Given the description of an element on the screen output the (x, y) to click on. 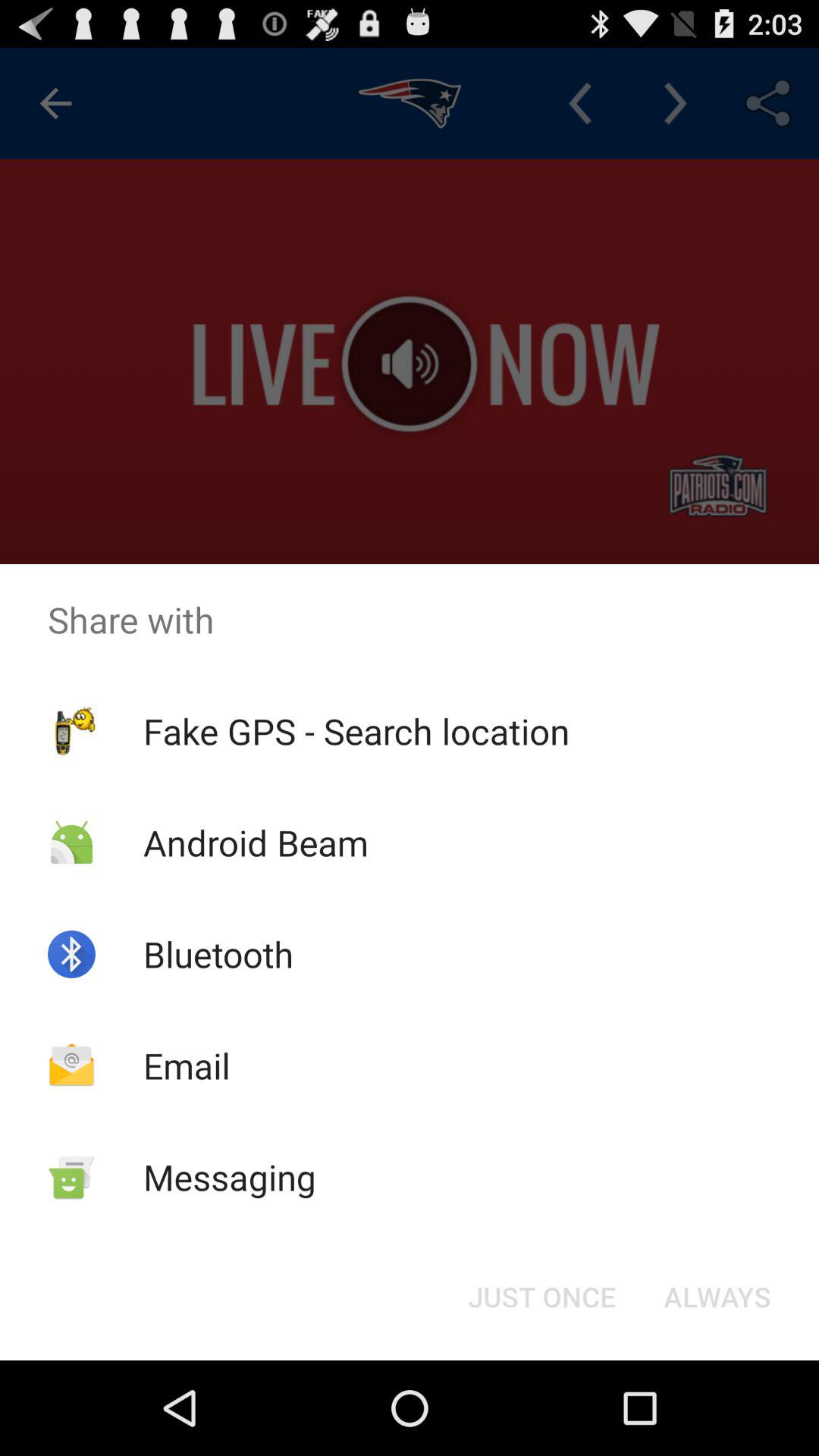
open icon to the left of always icon (541, 1296)
